Given the description of an element on the screen output the (x, y) to click on. 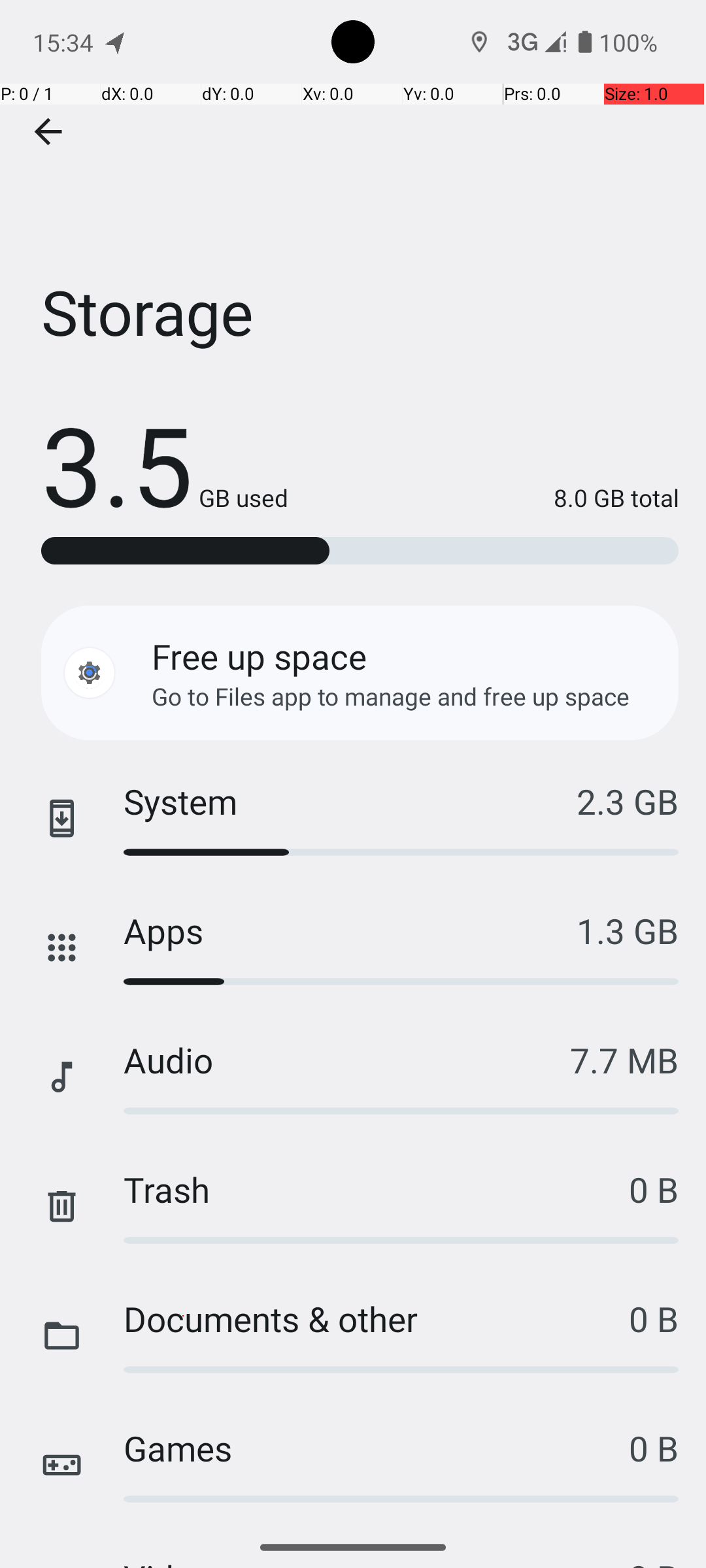
Storage Element type: android.widget.FrameLayout (353, 195)
3.5 GB used Element type: android.widget.TextView (164, 463)
8.0 GB total Element type: android.widget.TextView (483, 497)
Free up space Element type: android.widget.TextView (258, 656)
Go to Files app to manage and free up space Element type: android.widget.TextView (390, 695)
2.3 GB Element type: android.widget.TextView (627, 801)
Apps Element type: android.widget.TextView (349, 930)
1.3 GB Element type: android.widget.TextView (627, 930)
7.7 MB Element type: android.widget.TextView (624, 1059)
Trash Element type: android.widget.TextView (375, 1189)
0 B Element type: android.widget.TextView (653, 1189)
Documents & other Element type: android.widget.TextView (375, 1318)
Games Element type: android.widget.TextView (375, 1447)
